Given the description of an element on the screen output the (x, y) to click on. 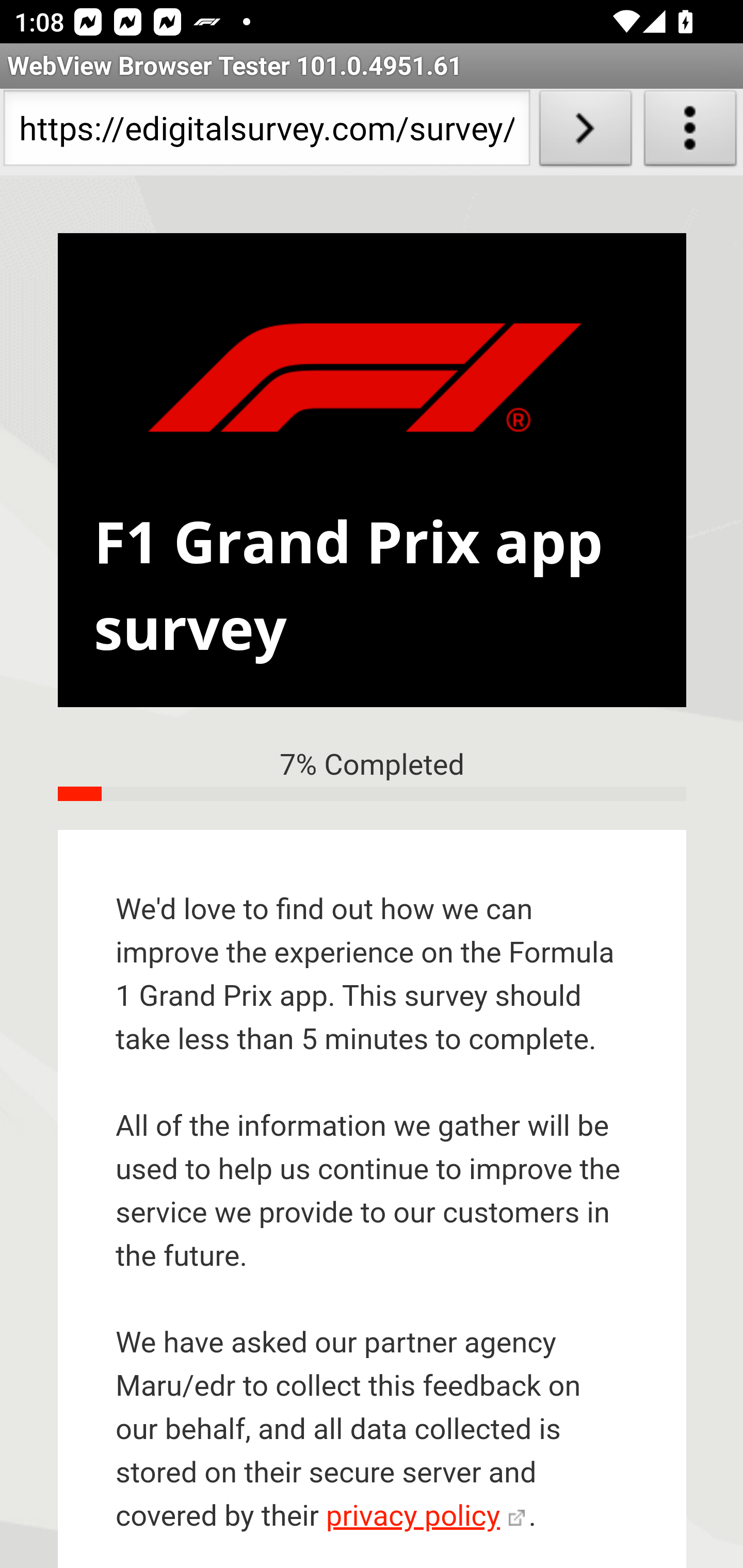
Load URL (585, 132)
About WebView (690, 132)
privacy policy  privacy policy    (425, 1517)
